Given the description of an element on the screen output the (x, y) to click on. 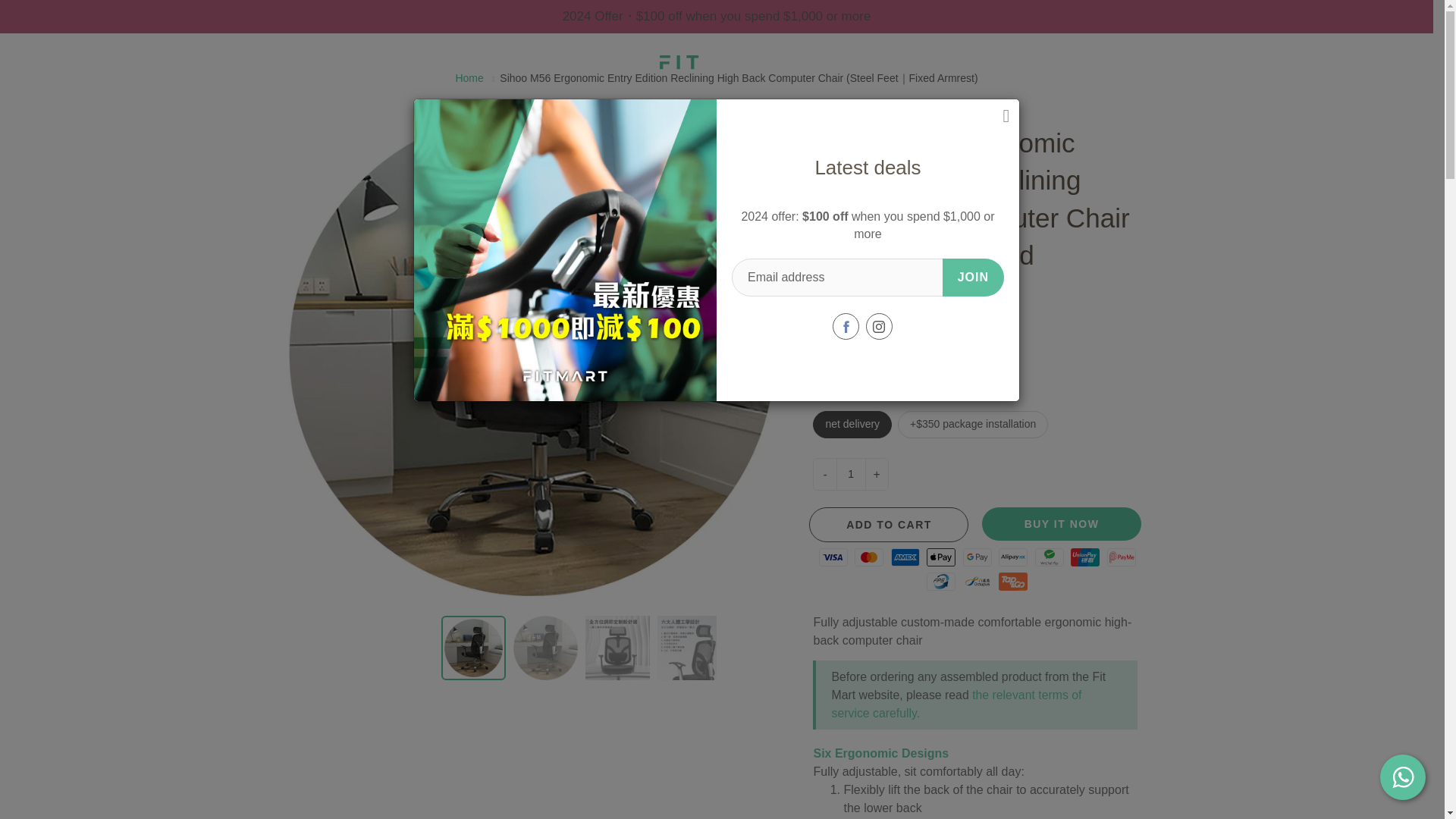
SMART LIFE (1064, 109)
Facebook (845, 325)
LATEST OFFER (246, 109)
YOGA SUPPLIES (584, 109)
FITNESS EQUIPMENTS (764, 109)
You have 0 items in your cart (1406, 59)
1 (850, 473)
Home (468, 78)
Instagram (879, 325)
Search (28, 59)
CONTACT US (1193, 109)
ERGONOMICS (930, 109)
MASSAGE SUPPLIES (410, 109)
My account (1368, 59)
